Given the description of an element on the screen output the (x, y) to click on. 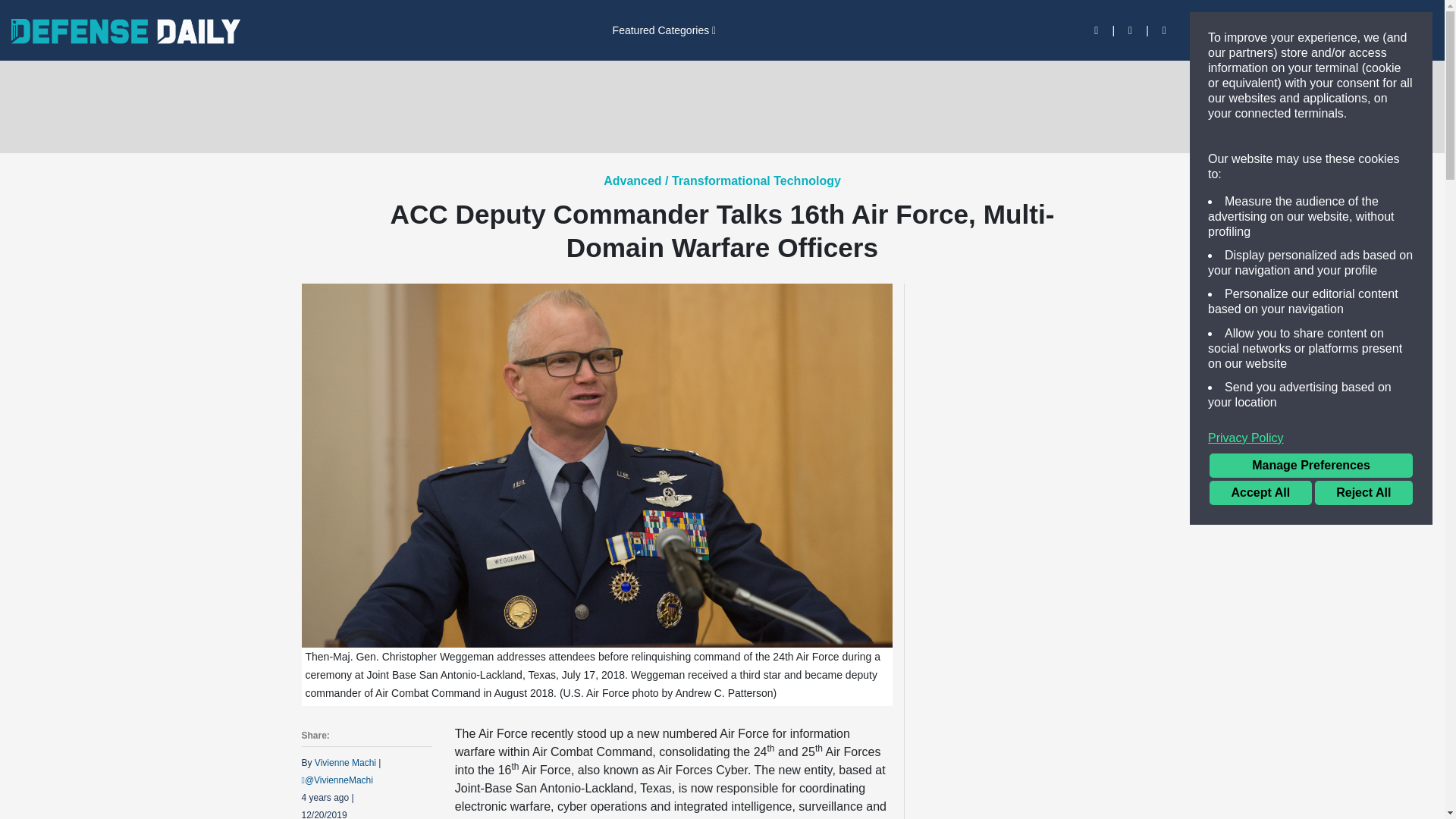
Manage Preferences (1310, 465)
Privacy Policy (1310, 437)
Signup (1257, 30)
Accept All (1260, 492)
Reject All (1363, 492)
